Given the description of an element on the screen output the (x, y) to click on. 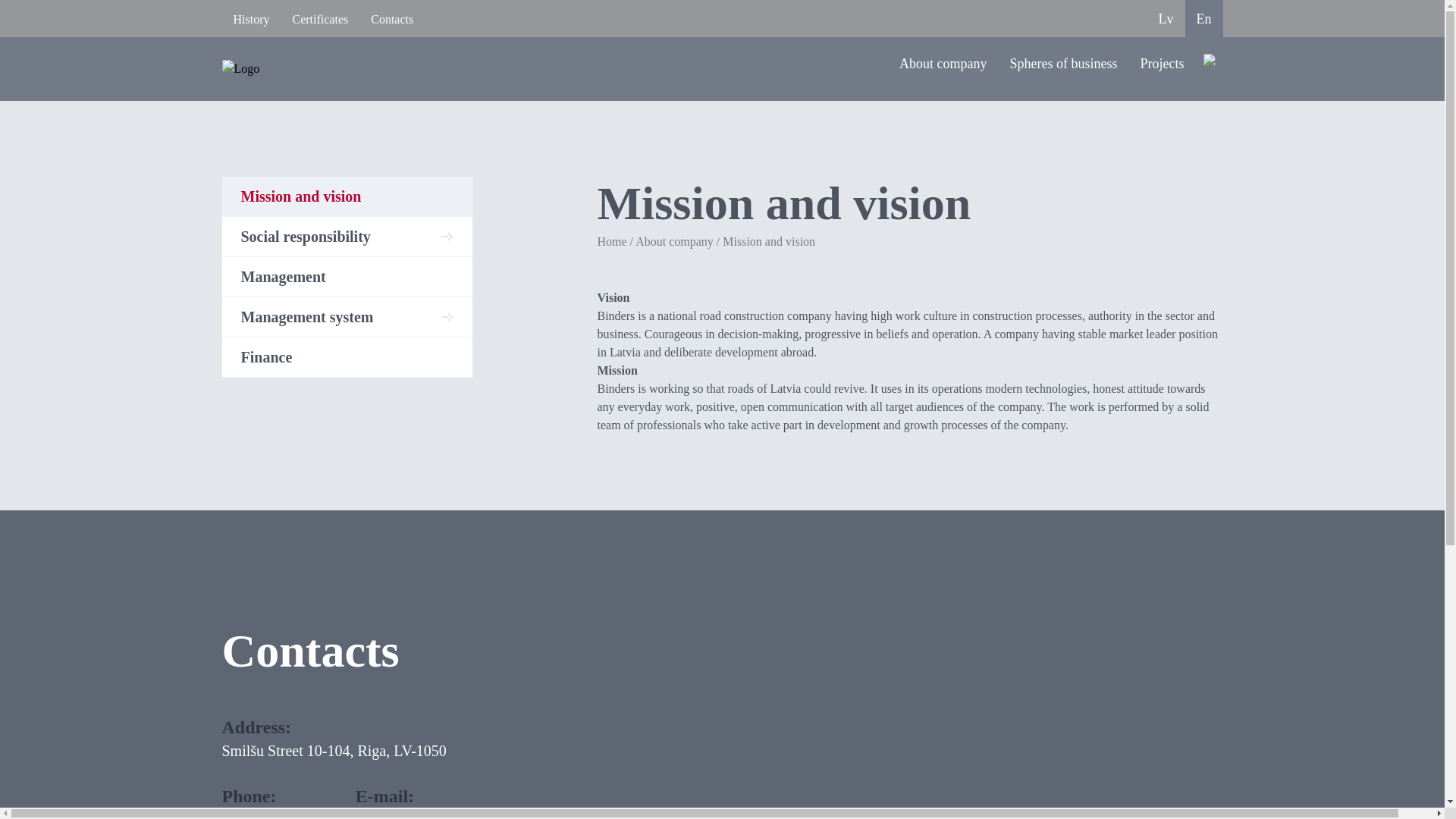
Contacts (392, 18)
En (1204, 18)
Certificates (320, 18)
About company (942, 68)
Mission and vision (346, 196)
History (251, 18)
Projects (1161, 68)
Spheres of business (1062, 68)
Lv (1166, 18)
Social responsibility (346, 236)
